Given the description of an element on the screen output the (x, y) to click on. 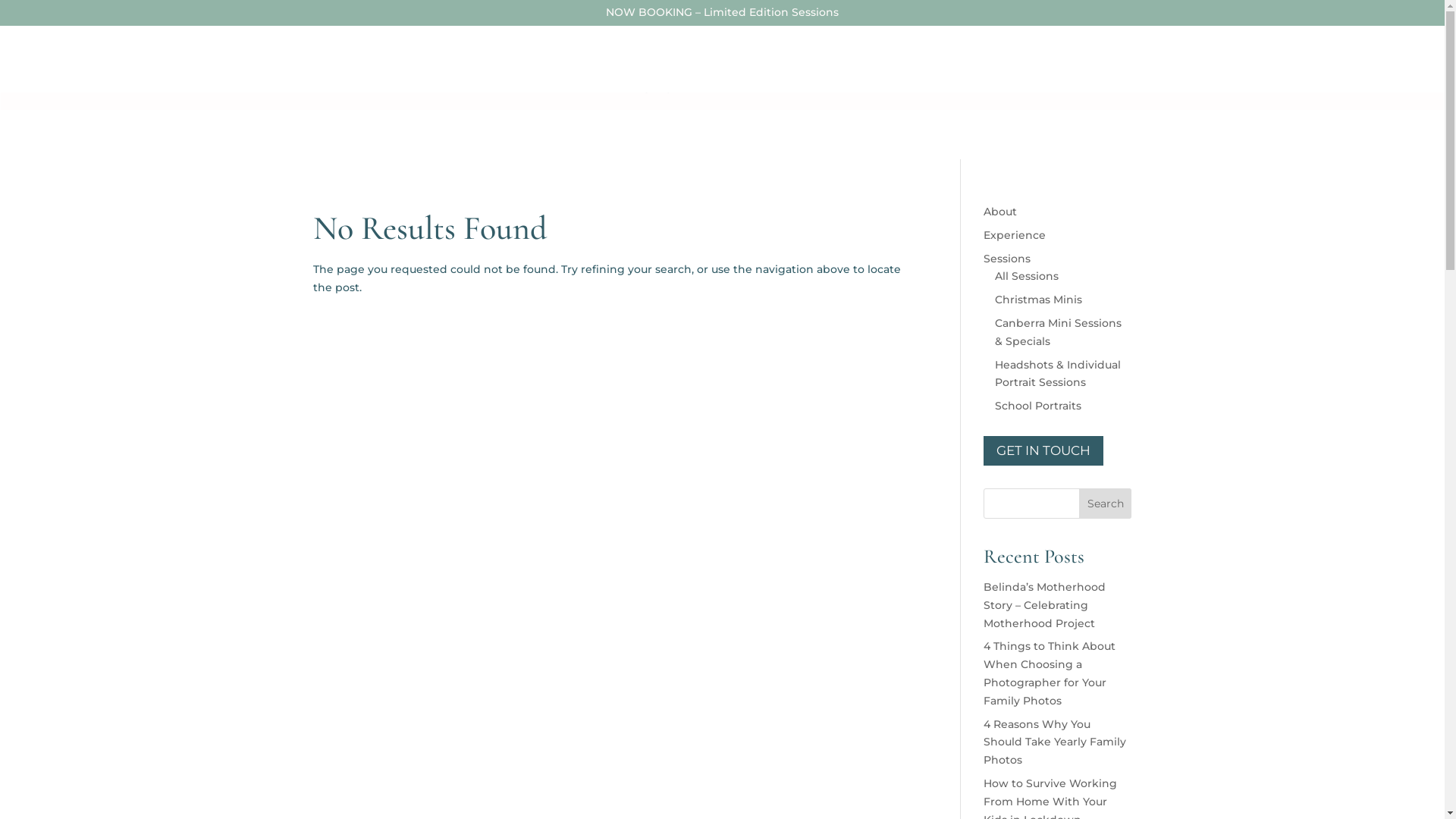
Christmas Minis Element type: text (1038, 299)
Canberra Mini Sessions & Specials Element type: text (1057, 332)
About Element type: text (460, 62)
All Sessions Element type: text (1026, 275)
4 Reasons Why You Should Take Yearly Family Photos Element type: text (1054, 742)
GET IN TOUCH Element type: text (1043, 451)
School Portraits Element type: text (1037, 405)
Sessions Element type: text (1006, 258)
Headshots & Individual Portrait Sessions Element type: text (1057, 373)
GET IN TOUCH Element type: text (939, 62)
Experience Element type: text (1014, 234)
About Element type: text (999, 211)
Experience Element type: text (525, 62)
Sessions Element type: text (831, 62)
Search Element type: text (1105, 503)
